Given the description of an element on the screen output the (x, y) to click on. 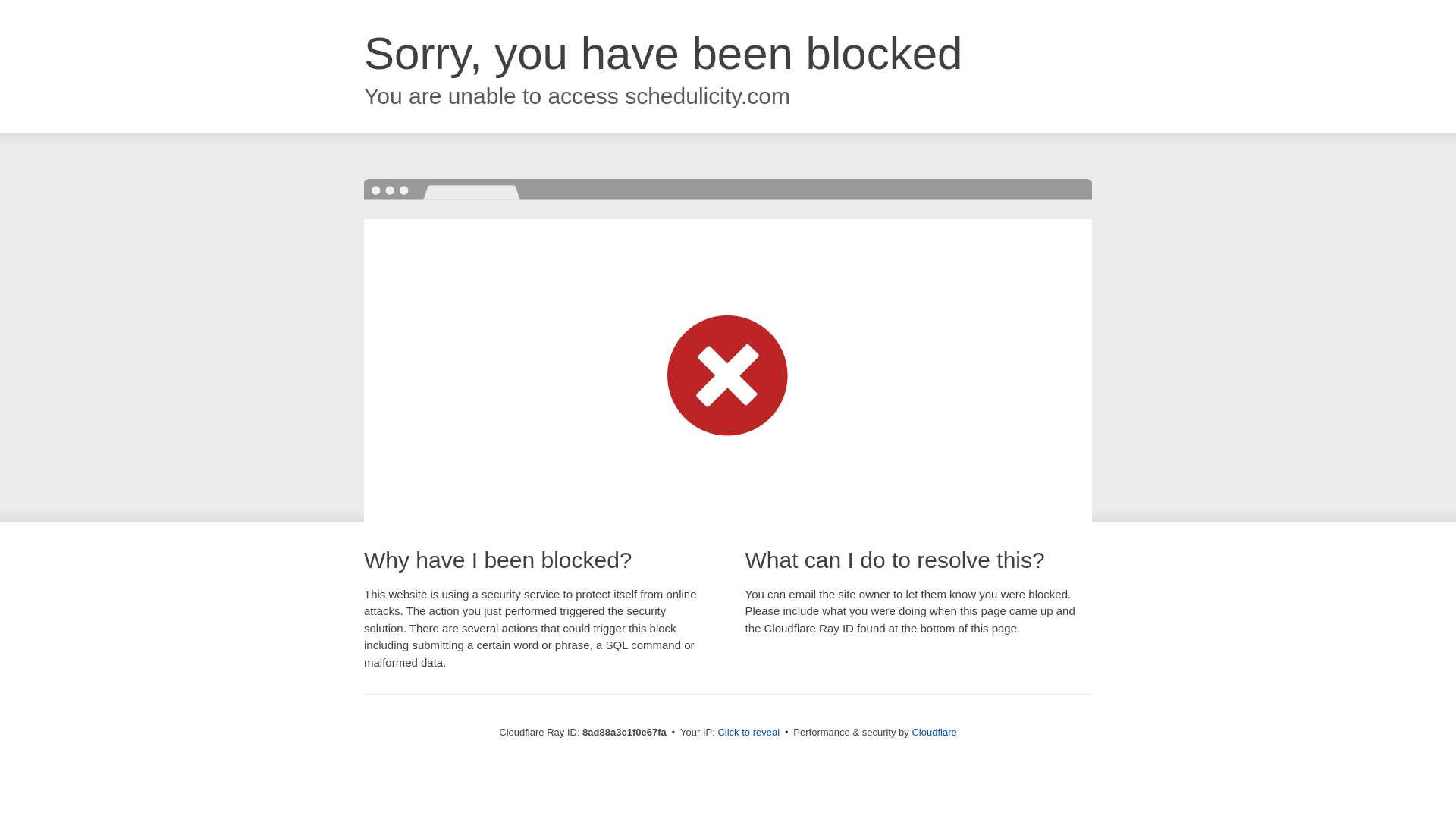
Click to reveal (747, 732)
Cloudflare (933, 731)
